Given the description of an element on the screen output the (x, y) to click on. 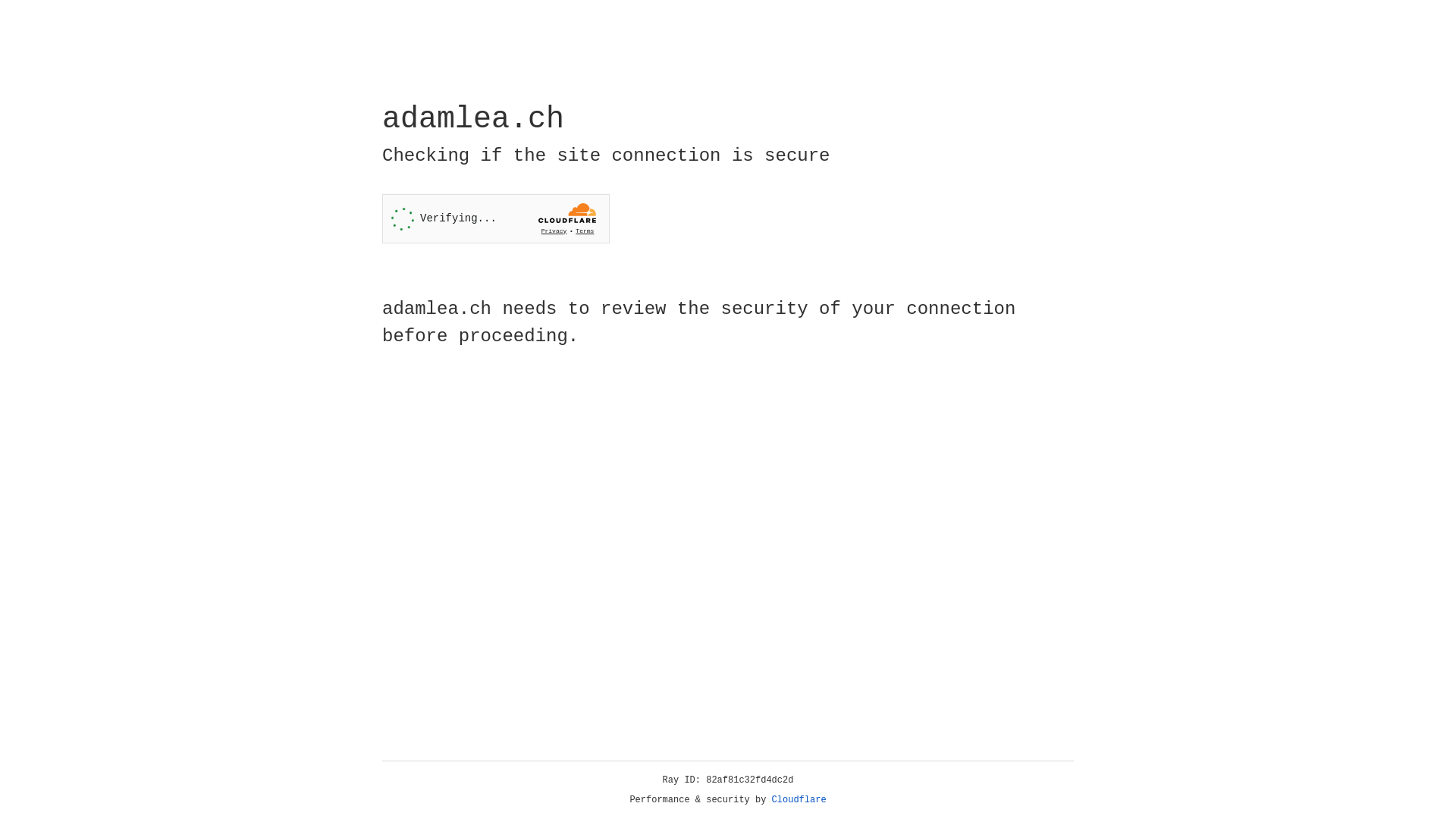
Widget containing a Cloudflare security challenge Element type: hover (495, 218)
Cloudflare Element type: text (798, 799)
